Given the description of an element on the screen output the (x, y) to click on. 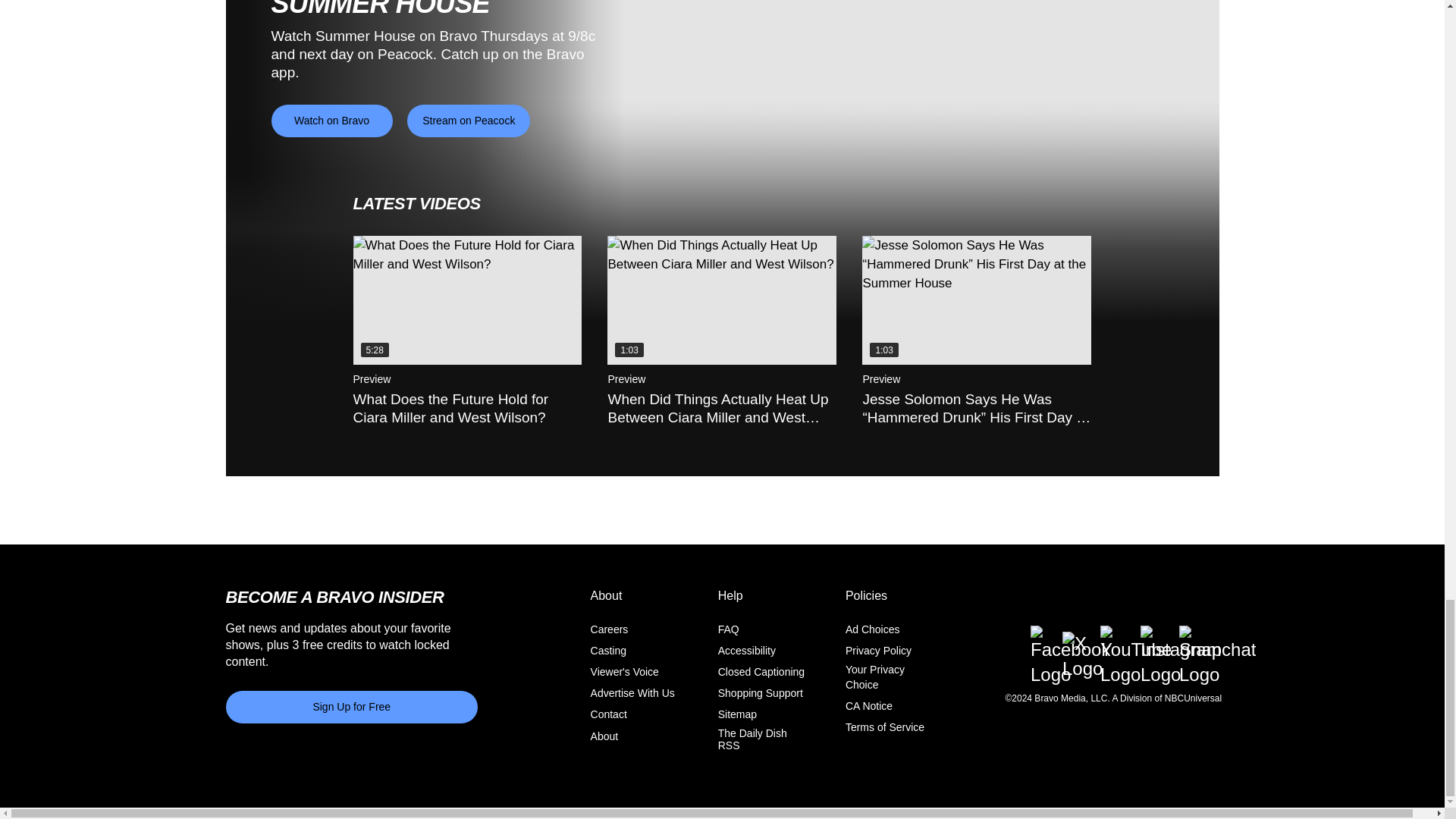
What Does the Future Hold for Ciara Miller and West Wilson? (467, 299)
